Given the description of an element on the screen output the (x, y) to click on. 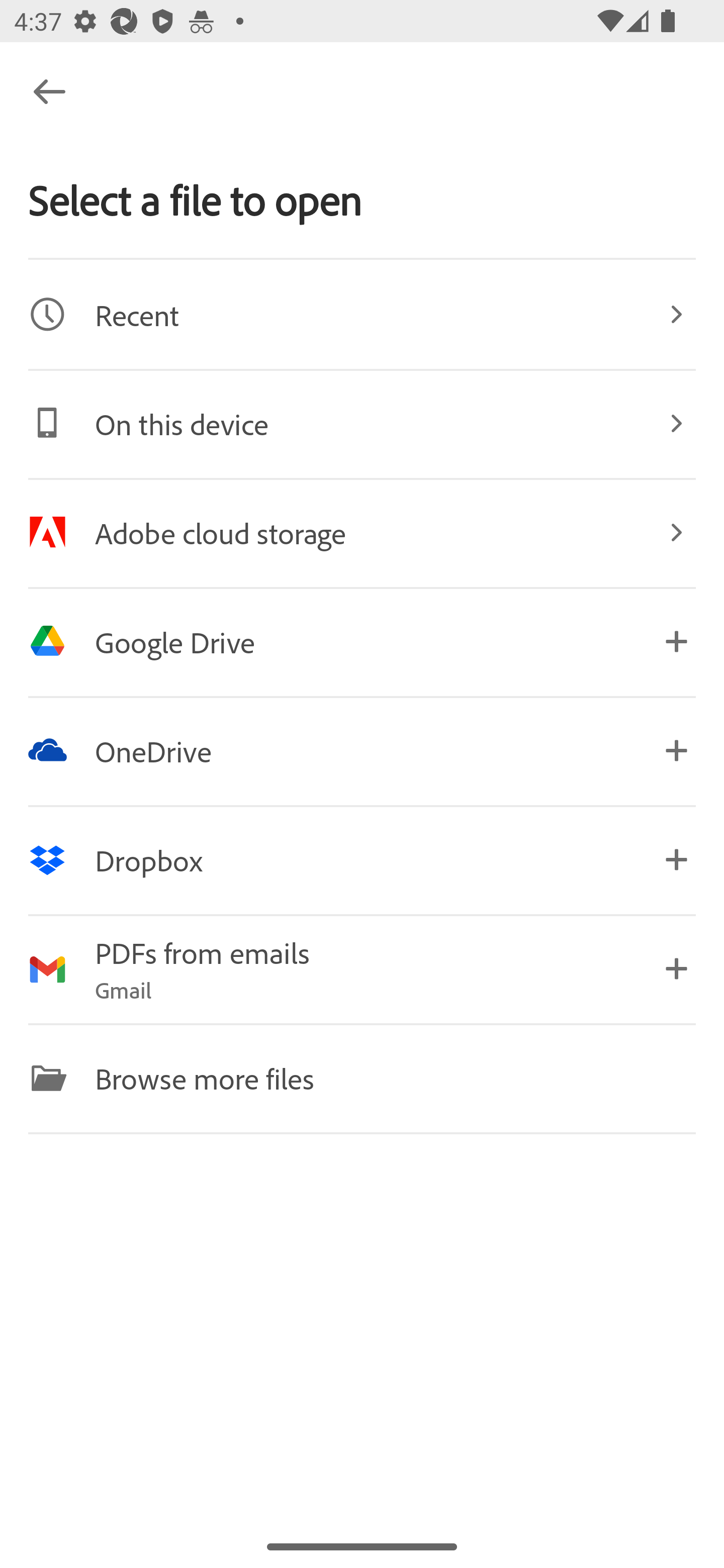
Navigate up (49, 91)
Image Recent (362, 314)
Image On this device (362, 423)
Image Adobe cloud storage (362, 532)
Image Google Drive (362, 641)
Image OneDrive (362, 750)
Image Dropbox (362, 859)
Image PDFs from emails Gmail (362, 968)
Image Browse more files (362, 1077)
